Given the description of an element on the screen output the (x, y) to click on. 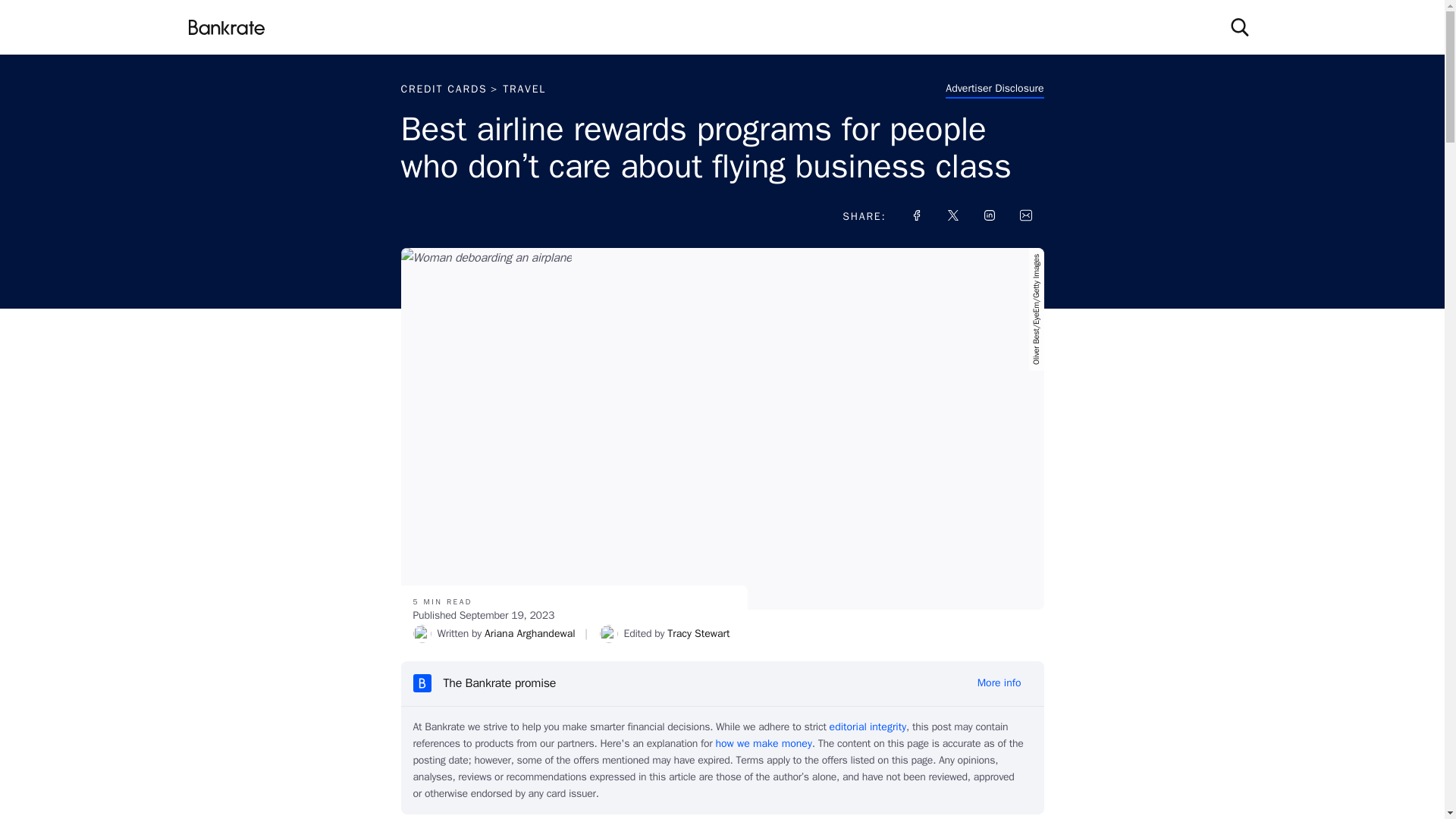
Twitter (952, 215)
Facebook (915, 215)
LinkedIn (988, 215)
Email (1024, 215)
